Given the description of an element on the screen output the (x, y) to click on. 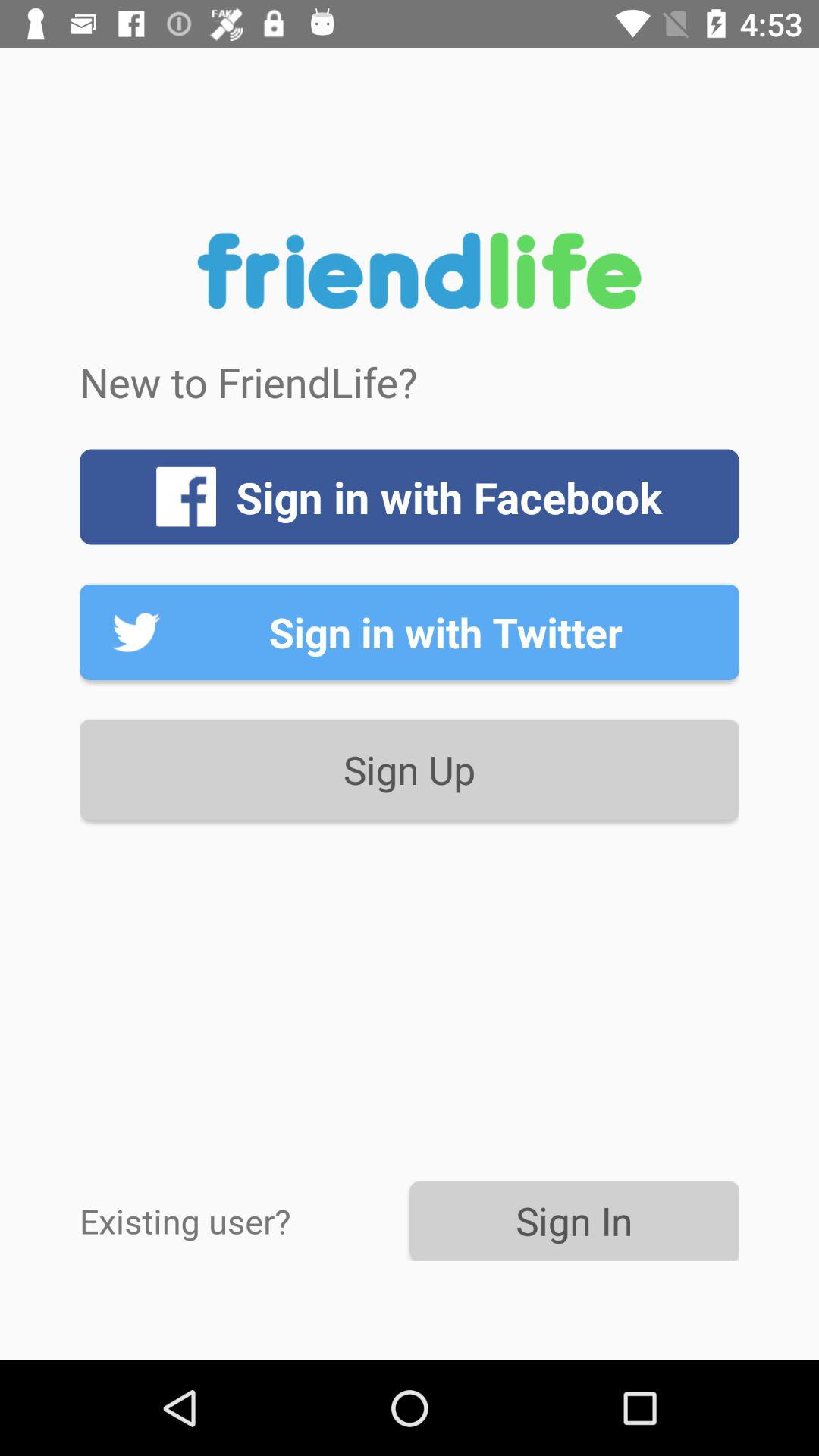
select the icon above sign in icon (409, 769)
